Given the description of an element on the screen output the (x, y) to click on. 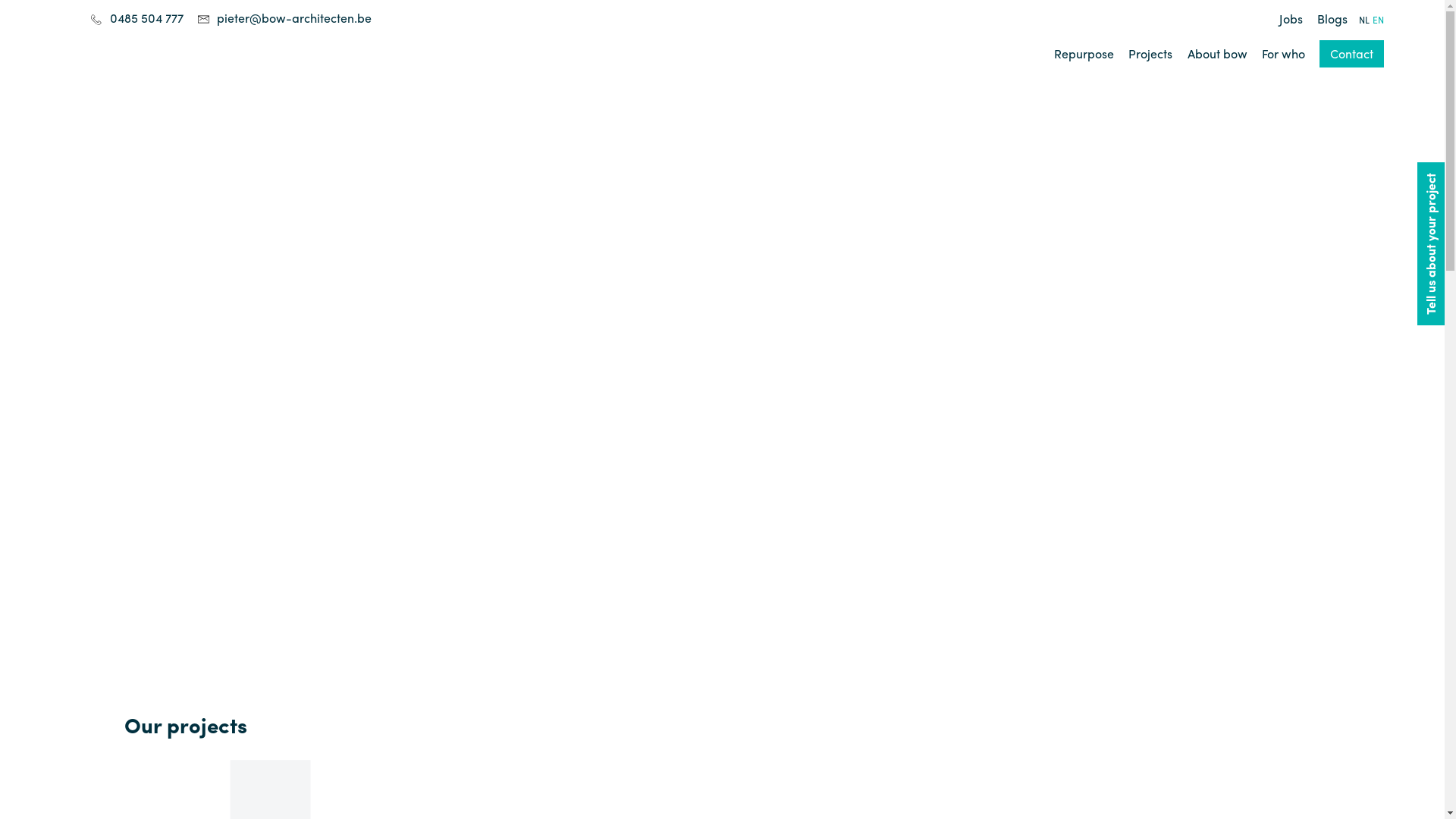
0485 504 777 Element type: text (146, 17)
pieter@bow-architecten.be Element type: text (293, 17)
About bow Element type: text (1217, 53)
Blogs Element type: text (1332, 18)
Contact Element type: text (1351, 53)
Projects Element type: text (1150, 53)
NL Element type: text (1363, 19)
Repurpose Element type: text (1083, 53)
For who Element type: text (1283, 53)
EN Element type: text (1377, 19)
Jobs Element type: text (1290, 18)
